Given the description of an element on the screen output the (x, y) to click on. 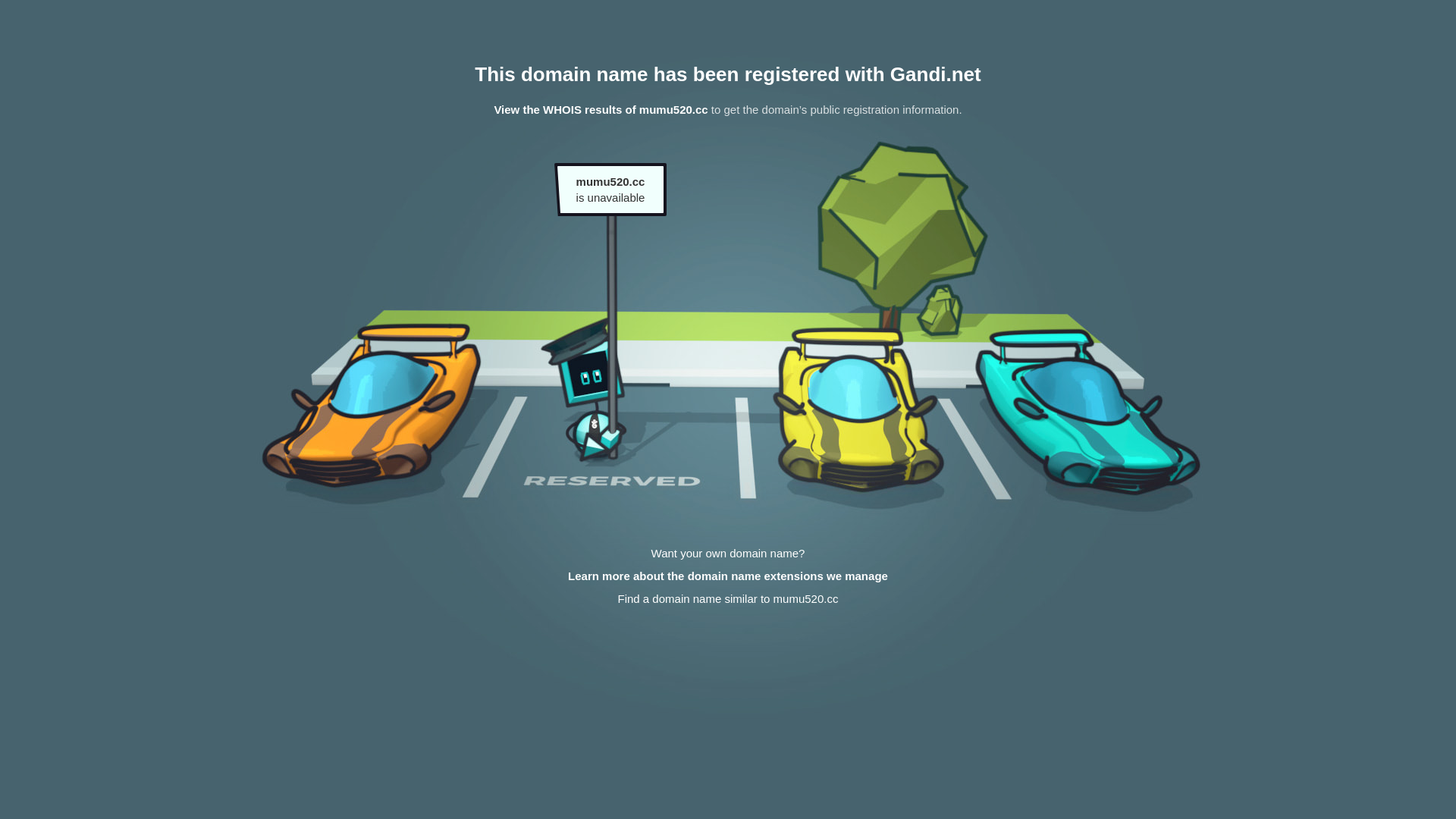
Learn more about the domain name extensions we manage Element type: text (727, 575)
Find a domain name similar to mumu520.cc Element type: text (728, 598)
View the WHOIS results of mumu520.cc Element type: text (600, 109)
